Given the description of an element on the screen output the (x, y) to click on. 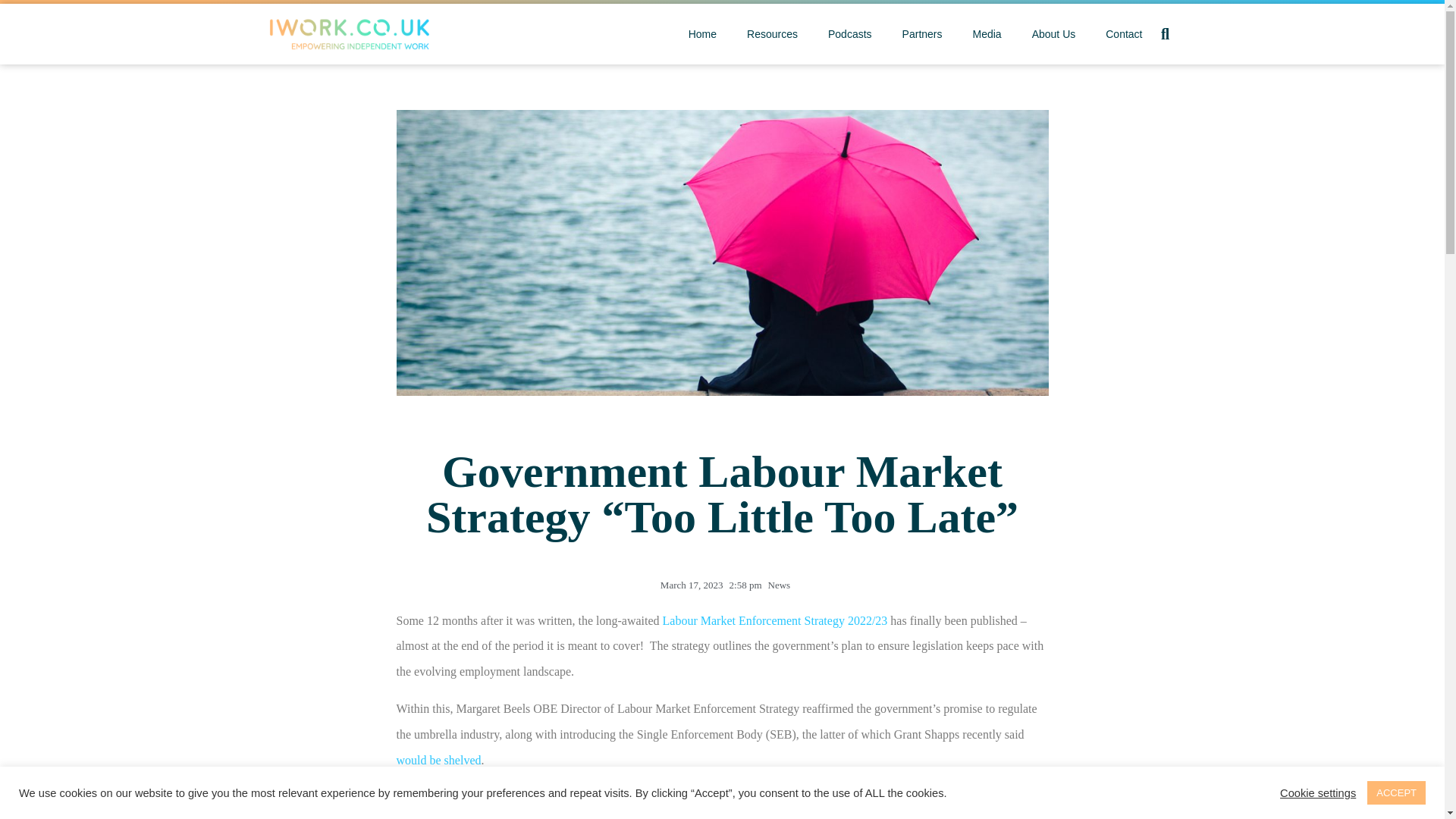
Podcasts (842, 33)
Partners (914, 33)
Home (694, 33)
News (779, 584)
would be shelved (438, 759)
About Us (1046, 33)
March 17, 2023 (688, 585)
Resources (764, 33)
Media (979, 33)
Contact (1116, 33)
